Given the description of an element on the screen output the (x, y) to click on. 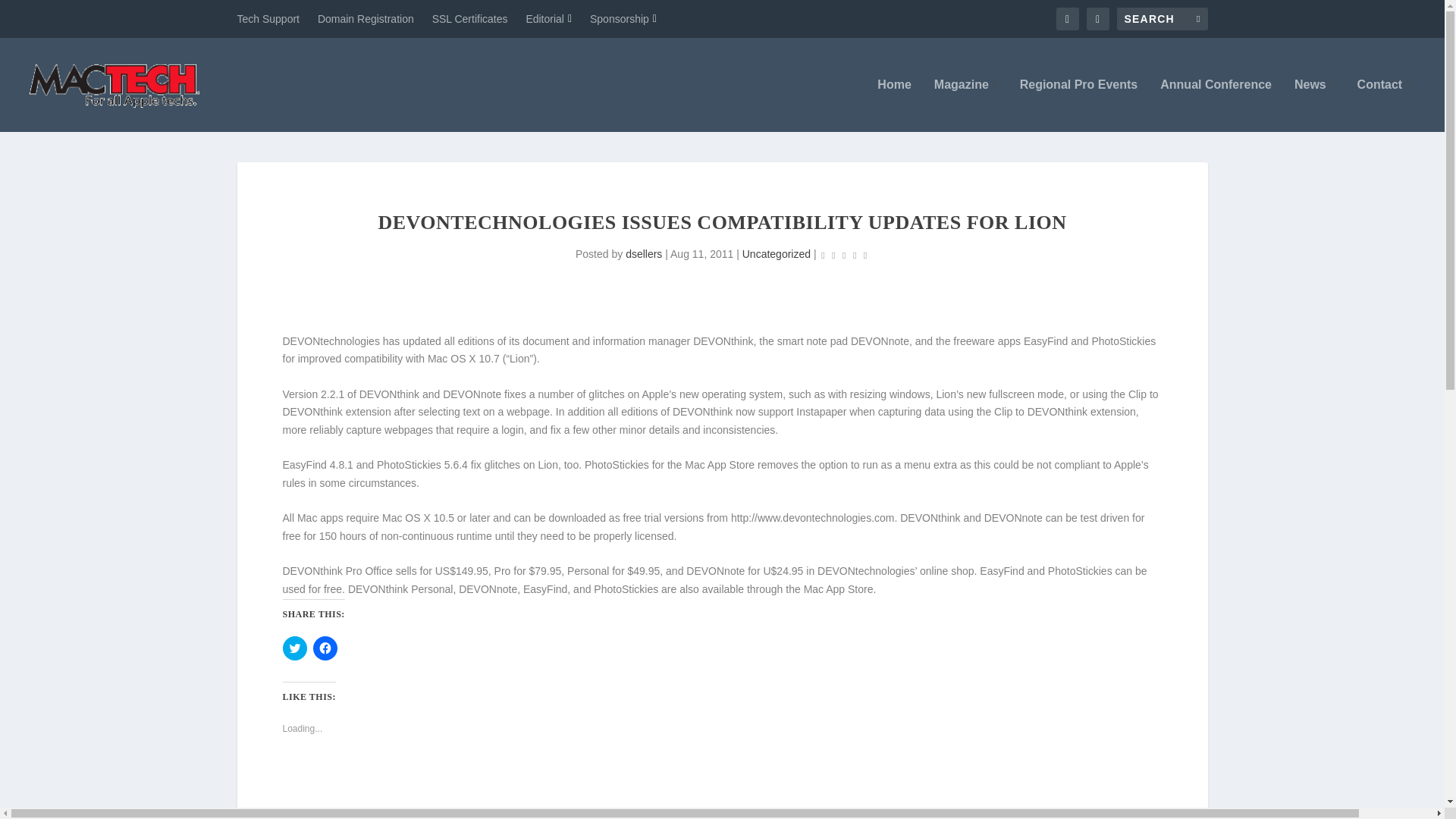
Sponsorship (622, 18)
Annual Conference (1215, 104)
Click to share on Twitter (293, 648)
dsellers (644, 254)
Regional Pro Events (1079, 104)
Click to share on Facebook (324, 648)
Rating: 0.00 (843, 254)
Posts by dsellers (644, 254)
Tech Support (267, 18)
Domain Registration (365, 18)
